Given the description of an element on the screen output the (x, y) to click on. 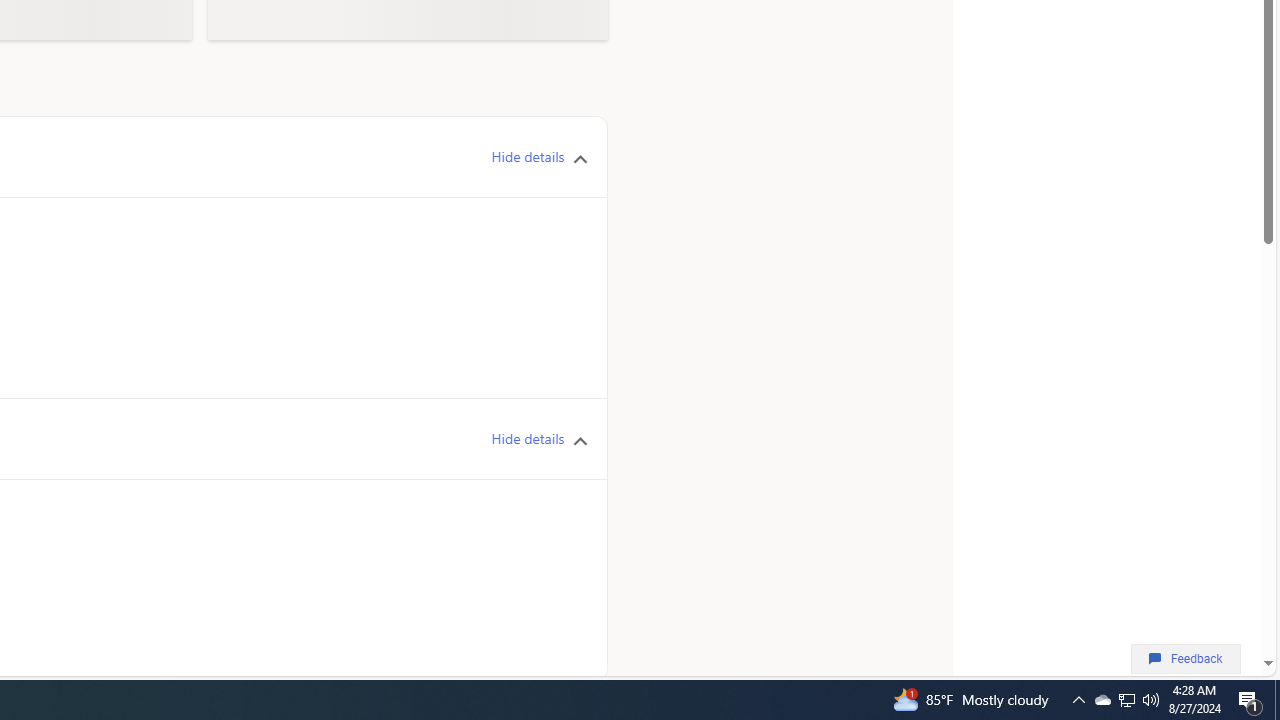
Hide details (527, 439)
